Given the description of an element on the screen output the (x, y) to click on. 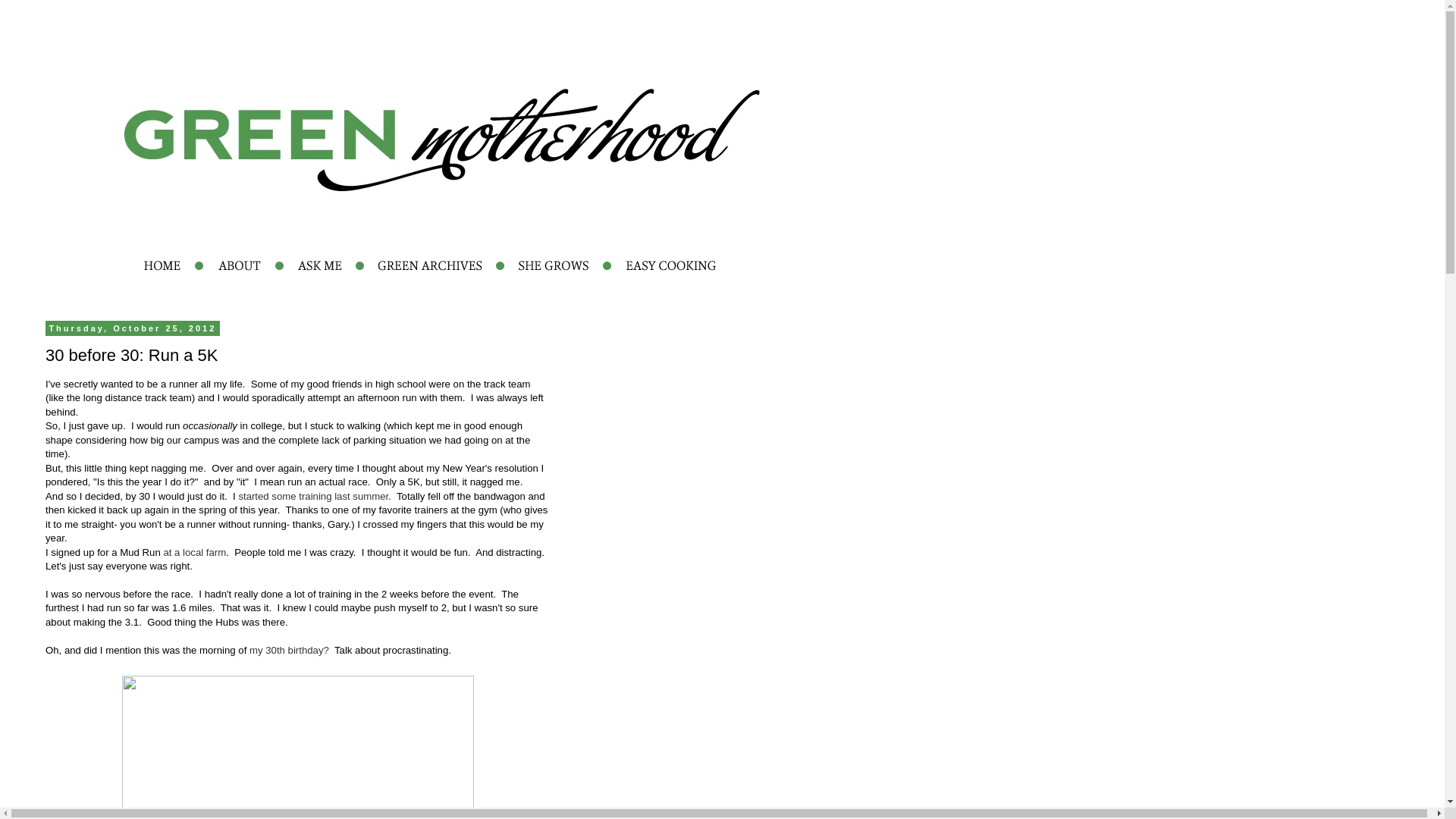
started some training last summer (313, 496)
my 30th birthday? (288, 650)
at a local farm (194, 551)
